Given the description of an element on the screen output the (x, y) to click on. 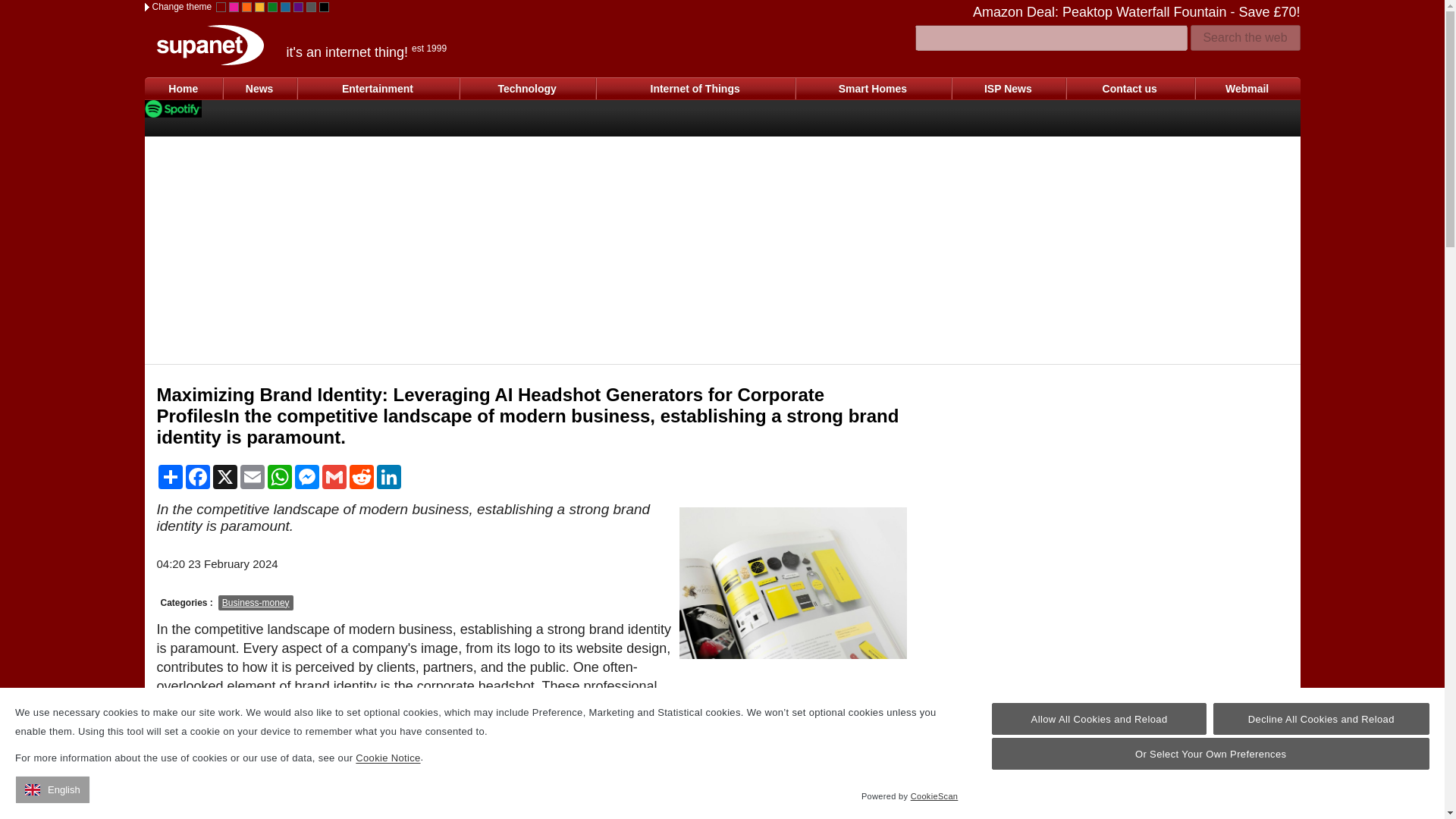
News (259, 88)
Internet of Things (694, 88)
Entertainment (377, 88)
Home (183, 88)
ISP News (1007, 88)
Smart Homes (872, 88)
Advertisement (793, 744)
Search the web (1245, 37)
Webmail (1246, 88)
Contact us (1129, 88)
Search the web (1245, 37)
Supanet (209, 45)
Technology (526, 88)
Search the web (1245, 37)
